Given the description of an element on the screen output the (x, y) to click on. 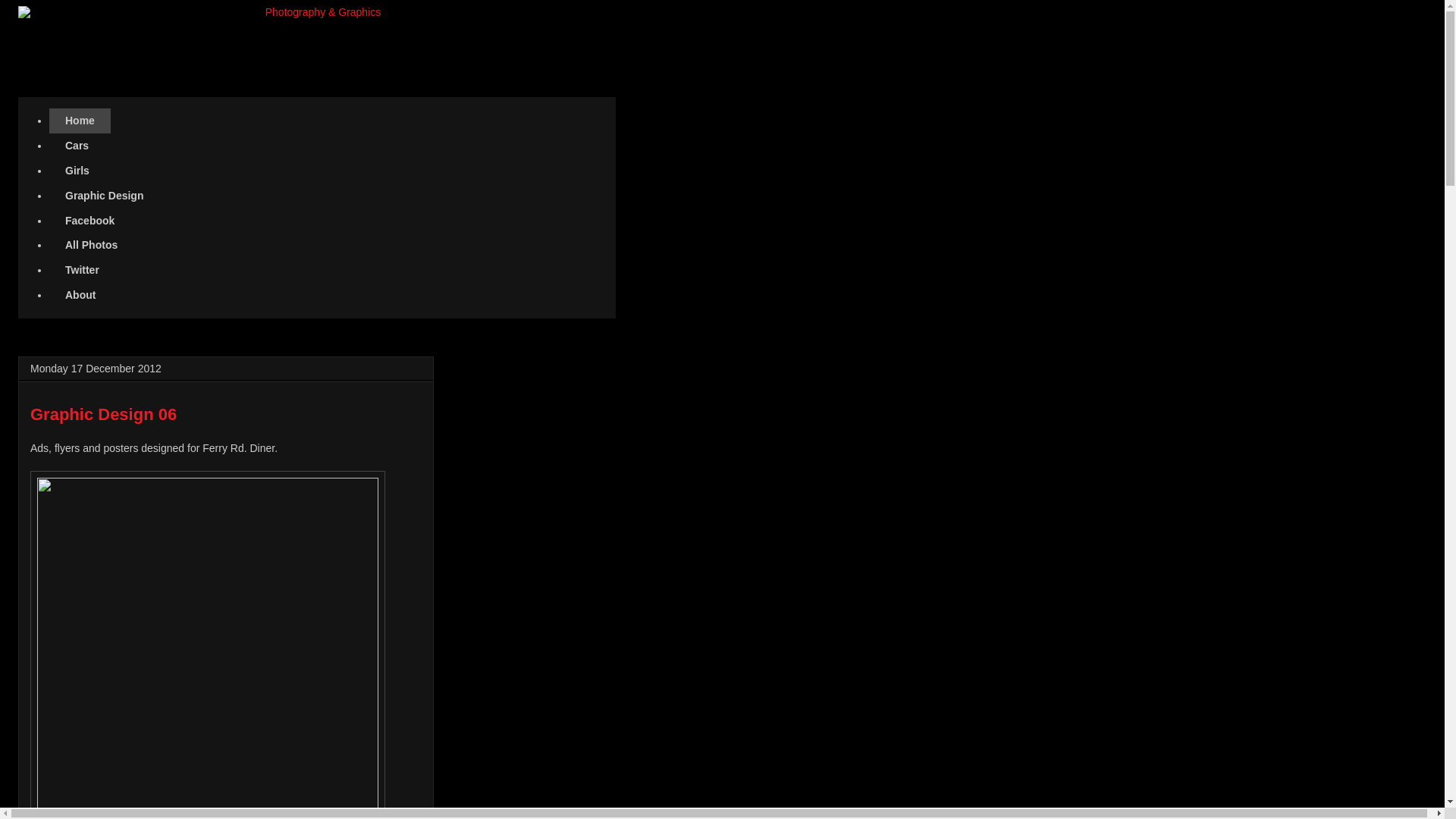
Twitter Element type: text (82, 269)
Home Element type: text (80, 120)
Graphic Design Element type: text (104, 194)
About Element type: text (80, 294)
Cars Element type: text (77, 145)
Girls Element type: text (77, 170)
All Photos Element type: text (91, 244)
Facebook Element type: text (90, 219)
